Given the description of an element on the screen output the (x, y) to click on. 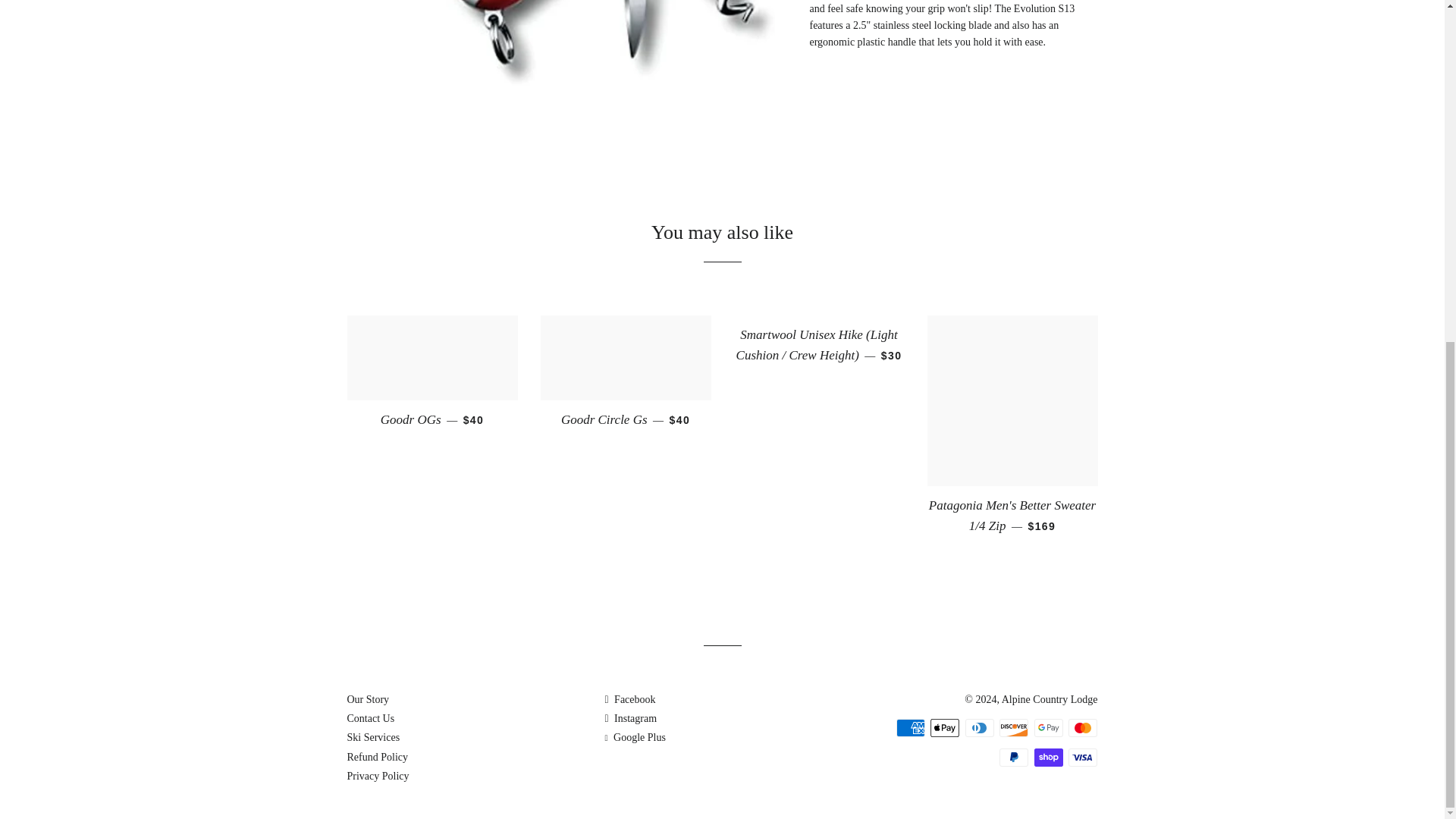
Alpine Country Lodge on Facebook (629, 699)
Shop Pay (1047, 757)
Visa (1082, 757)
American Express (910, 728)
Google Pay (1047, 728)
Apple Pay (944, 728)
Alpine Country Lodge on Google Plus (634, 737)
Discover (1012, 728)
Diners Club (979, 728)
Mastercard (1082, 728)
